Given the description of an element on the screen output the (x, y) to click on. 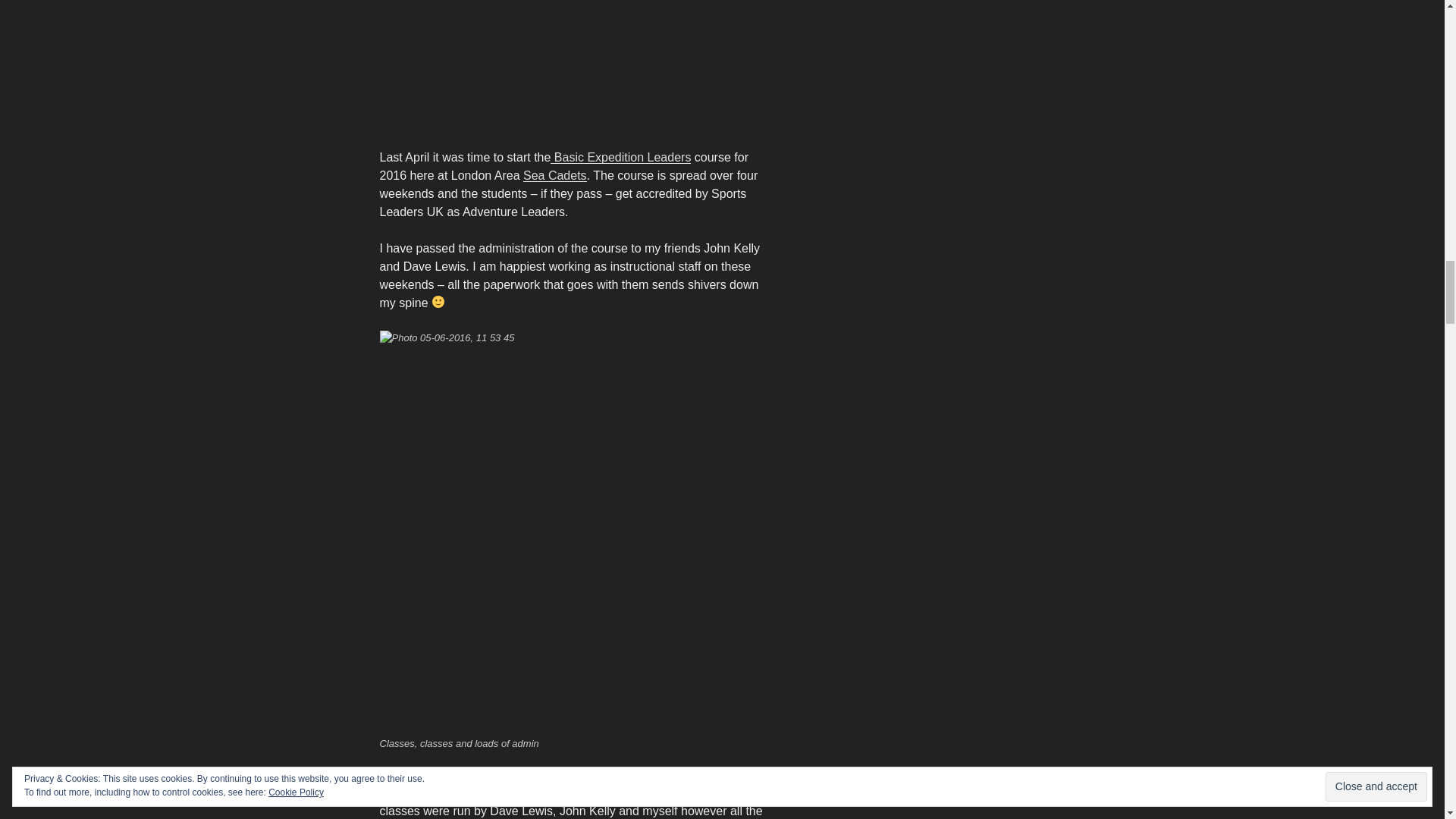
Basic Expedition Leaders (620, 156)
Sunbury and Walton Sea Cadet unit (635, 774)
Sea Cadets (554, 174)
